Given the description of an element on the screen output the (x, y) to click on. 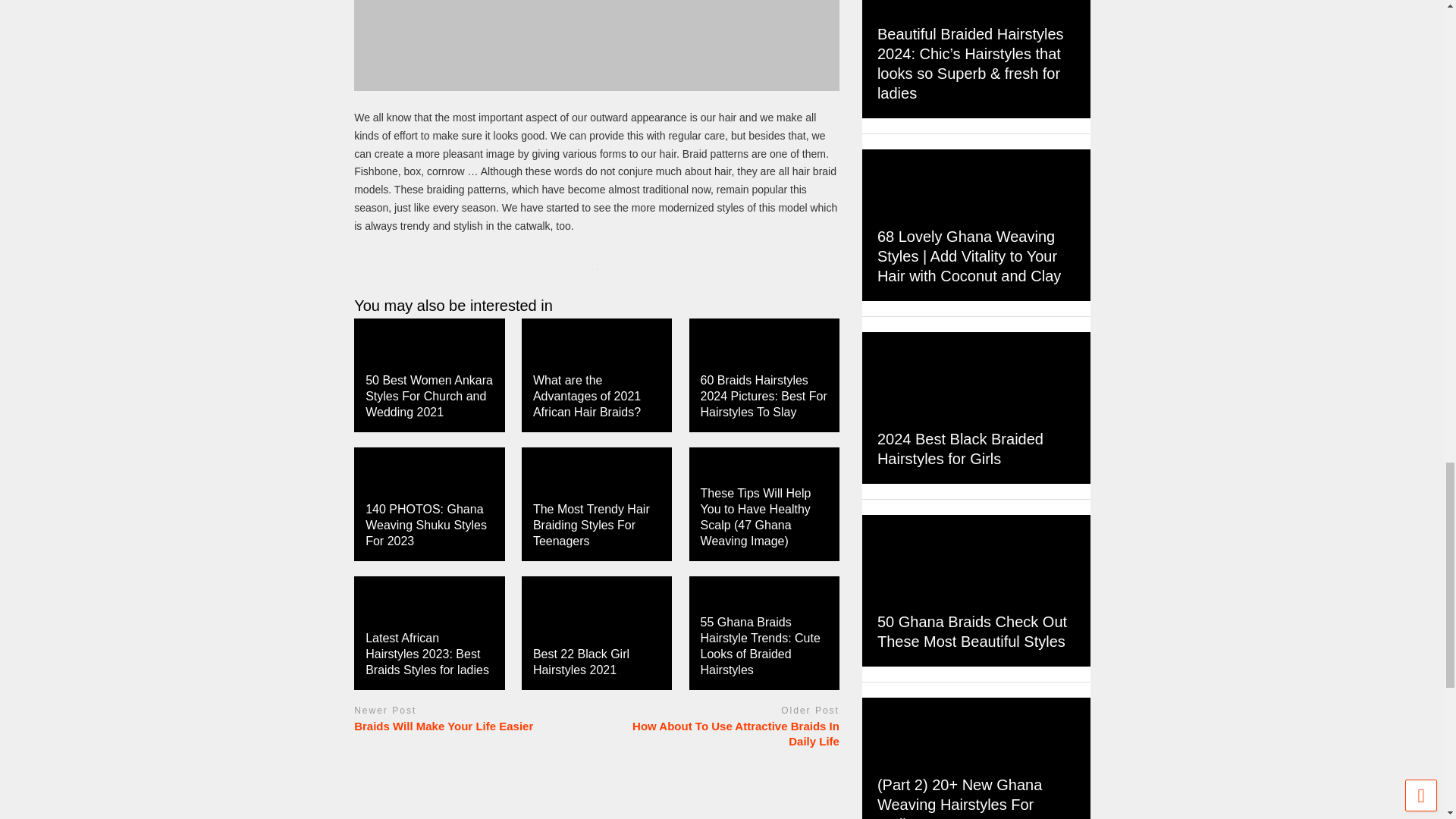
What are the Advantages of 2021 African Hair Braids? (586, 395)
50 Best Women Ankara Styles For Church and Wedding 2021 (429, 395)
